Given the description of an element on the screen output the (x, y) to click on. 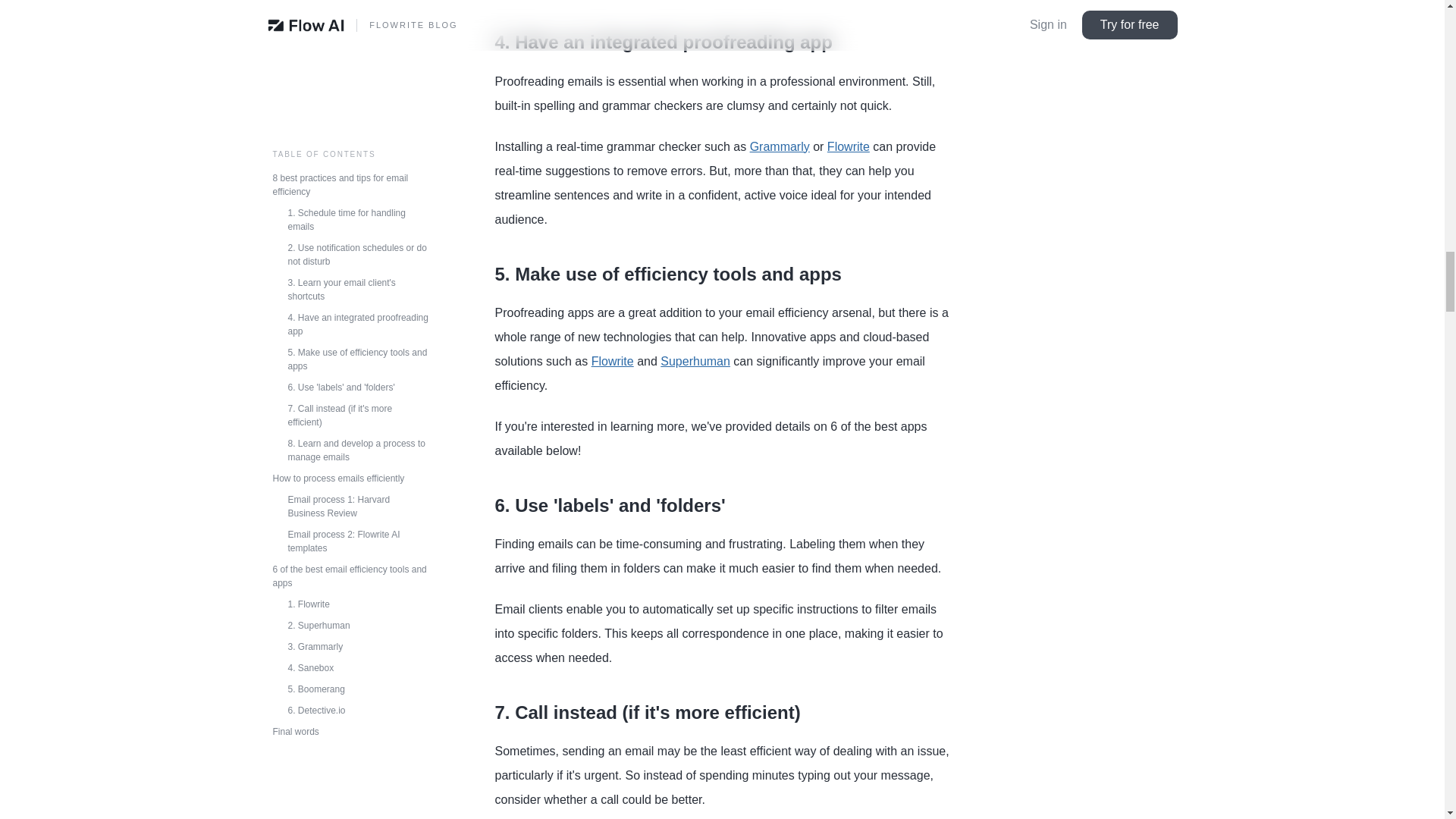
Flowrite (848, 146)
Flowrite (612, 360)
Grammarly (779, 146)
Superhuman (695, 360)
